Given the description of an element on the screen output the (x, y) to click on. 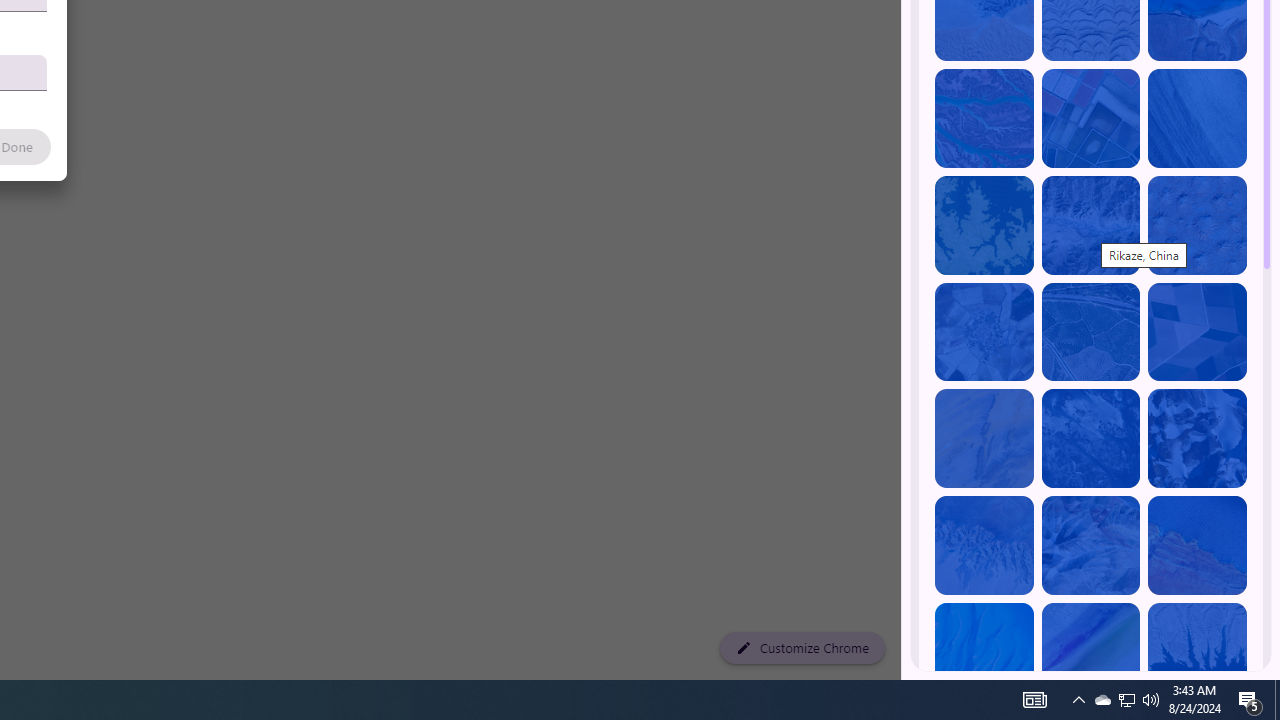
Davis County, United States (1090, 651)
Side Panel Resize Handle (905, 39)
Ngari, China (1090, 545)
Utrera, Spain (1197, 332)
